Given the description of an element on the screen output the (x, y) to click on. 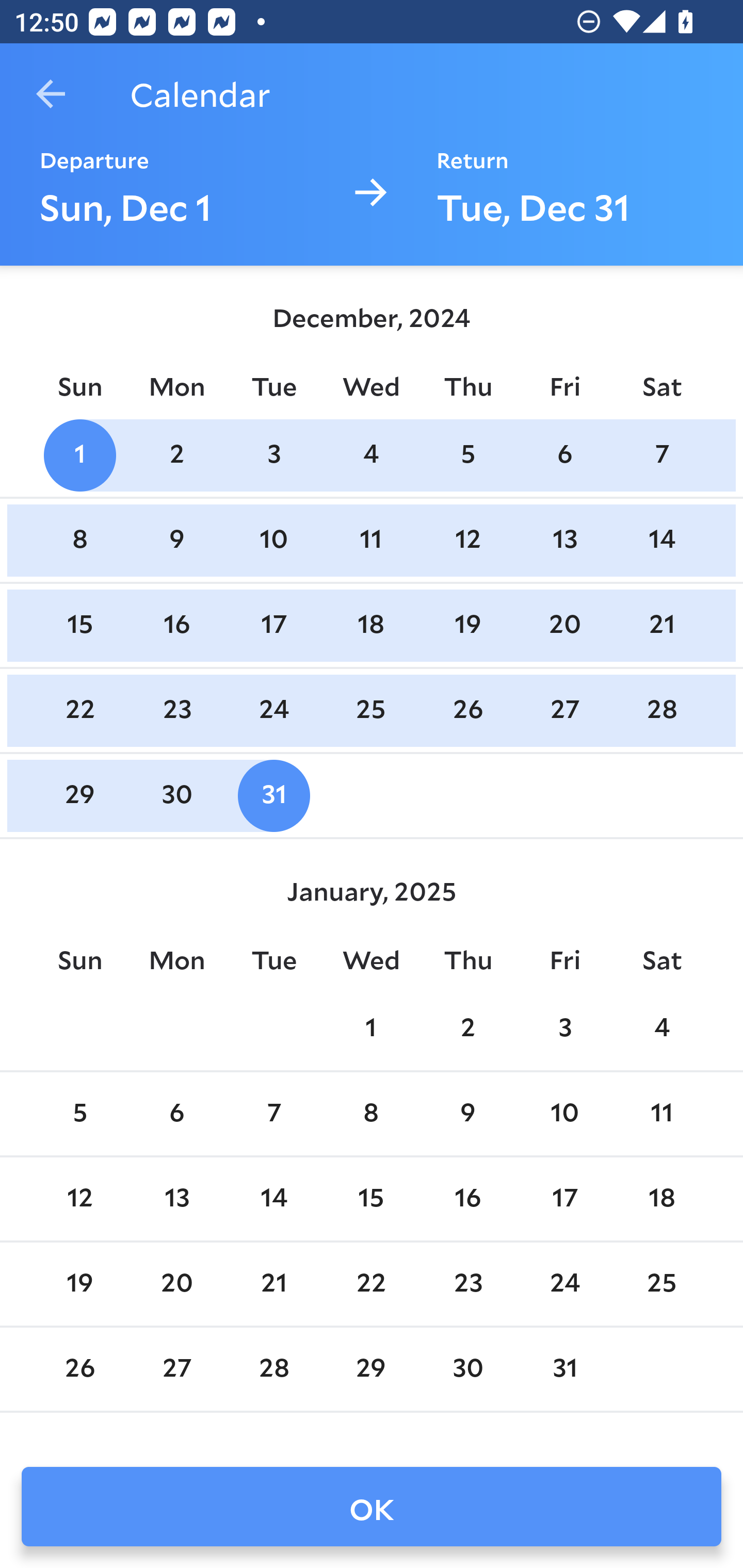
Navigate up (50, 93)
1 (79, 454)
2 (177, 454)
3 (273, 454)
4 (371, 454)
5 (467, 454)
6 (565, 454)
7 (661, 454)
8 (79, 540)
9 (177, 540)
10 (273, 540)
11 (371, 540)
12 (467, 540)
13 (565, 540)
14 (661, 540)
15 (79, 625)
16 (177, 625)
17 (273, 625)
18 (371, 625)
19 (467, 625)
20 (565, 625)
21 (661, 625)
22 (79, 710)
23 (177, 710)
24 (273, 710)
25 (371, 710)
26 (467, 710)
27 (565, 710)
28 (661, 710)
29 (79, 796)
30 (177, 796)
31 (273, 796)
1 (371, 1028)
2 (467, 1028)
3 (565, 1028)
4 (661, 1028)
5 (79, 1114)
6 (177, 1114)
7 (273, 1114)
8 (371, 1114)
9 (467, 1114)
10 (565, 1114)
11 (661, 1114)
12 (79, 1199)
13 (177, 1199)
14 (273, 1199)
15 (371, 1199)
16 (467, 1199)
17 (565, 1199)
18 (661, 1199)
19 (79, 1284)
20 (177, 1284)
21 (273, 1284)
22 (371, 1284)
23 (467, 1284)
24 (565, 1284)
25 (661, 1284)
26 (79, 1368)
27 (177, 1368)
28 (273, 1368)
29 (371, 1368)
30 (467, 1368)
31 (565, 1368)
OK (371, 1506)
